Given the description of an element on the screen output the (x, y) to click on. 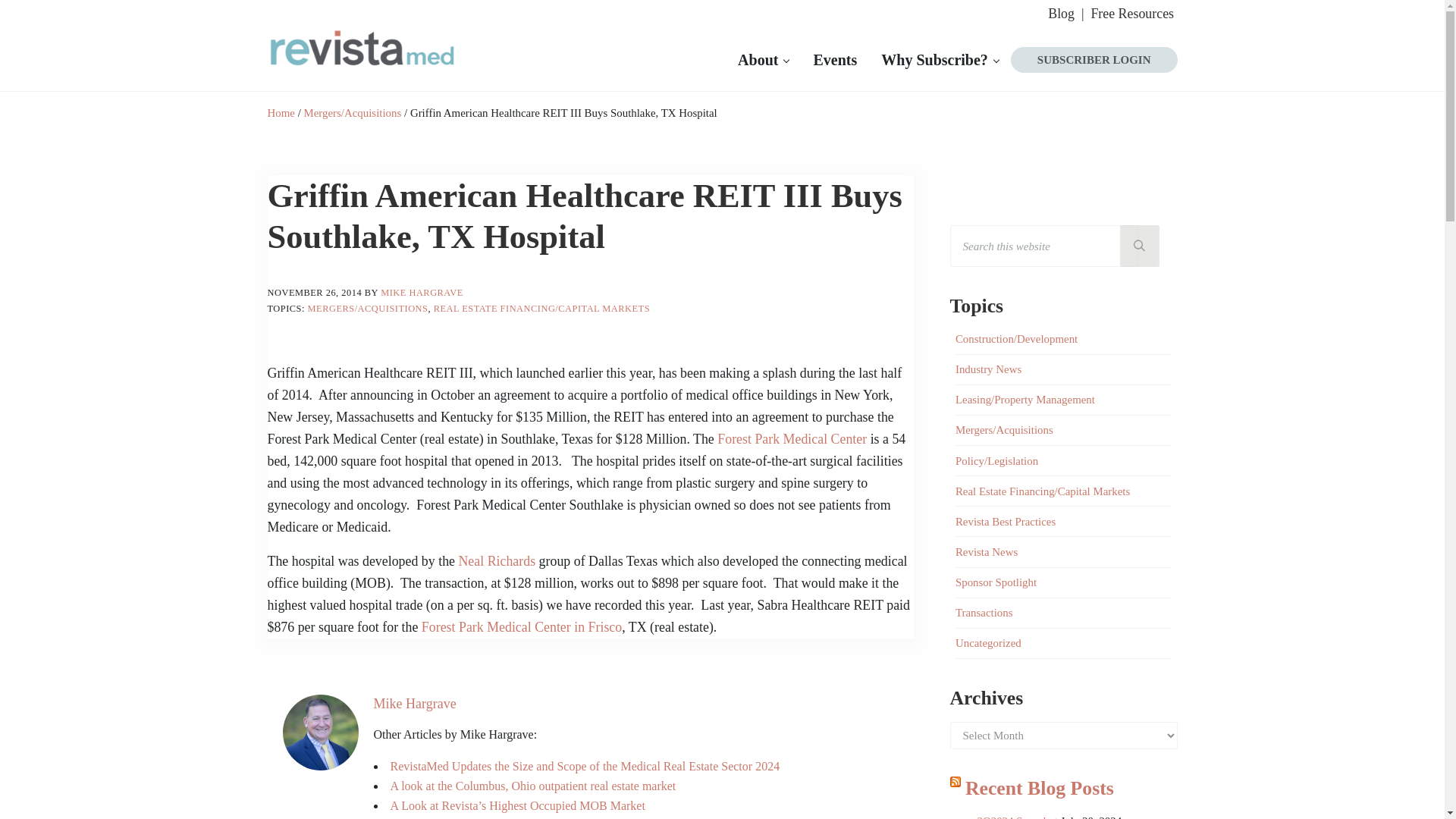
About (762, 59)
Events (834, 59)
Free Resources (1132, 14)
SUBSCRIBER LOGIN (1093, 59)
Why Subscribe? (939, 59)
Blog (1066, 14)
